Given the description of an element on the screen output the (x, y) to click on. 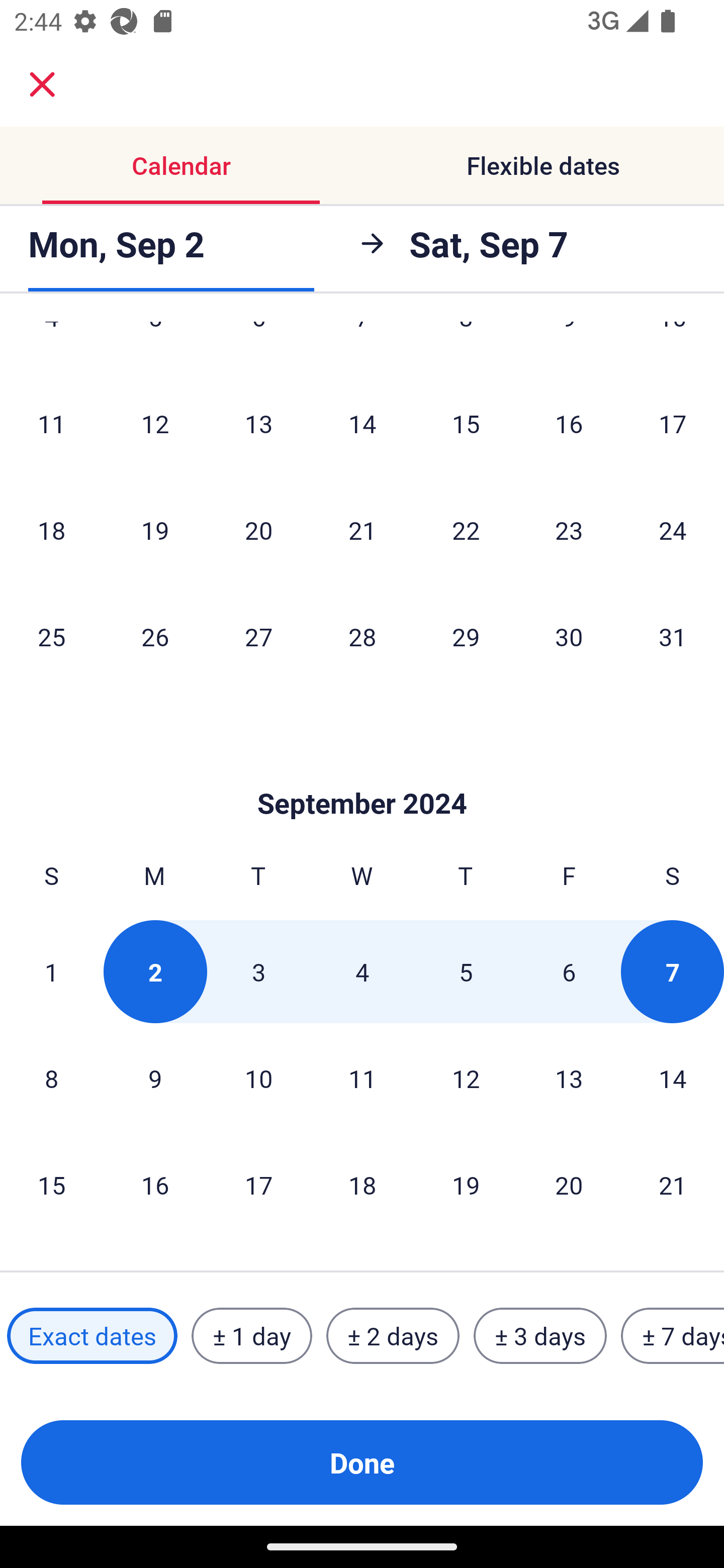
close. (42, 84)
Flexible dates (542, 164)
11 Sunday, August 11, 2024 (51, 423)
12 Monday, August 12, 2024 (155, 423)
13 Tuesday, August 13, 2024 (258, 423)
14 Wednesday, August 14, 2024 (362, 423)
15 Thursday, August 15, 2024 (465, 423)
16 Friday, August 16, 2024 (569, 423)
17 Saturday, August 17, 2024 (672, 423)
18 Sunday, August 18, 2024 (51, 529)
19 Monday, August 19, 2024 (155, 529)
20 Tuesday, August 20, 2024 (258, 529)
21 Wednesday, August 21, 2024 (362, 529)
22 Thursday, August 22, 2024 (465, 529)
23 Friday, August 23, 2024 (569, 529)
24 Saturday, August 24, 2024 (672, 529)
25 Sunday, August 25, 2024 (51, 636)
26 Monday, August 26, 2024 (155, 636)
27 Tuesday, August 27, 2024 (258, 636)
28 Wednesday, August 28, 2024 (362, 636)
29 Thursday, August 29, 2024 (465, 636)
30 Friday, August 30, 2024 (569, 636)
31 Saturday, August 31, 2024 (672, 636)
Skip to Done (362, 772)
1 Sunday, September 1, 2024 (51, 971)
8 Sunday, September 8, 2024 (51, 1078)
9 Monday, September 9, 2024 (155, 1078)
10 Tuesday, September 10, 2024 (258, 1078)
11 Wednesday, September 11, 2024 (362, 1078)
12 Thursday, September 12, 2024 (465, 1078)
13 Friday, September 13, 2024 (569, 1078)
14 Saturday, September 14, 2024 (672, 1078)
15 Sunday, September 15, 2024 (51, 1184)
16 Monday, September 16, 2024 (155, 1184)
17 Tuesday, September 17, 2024 (258, 1184)
18 Wednesday, September 18, 2024 (362, 1184)
19 Thursday, September 19, 2024 (465, 1184)
20 Friday, September 20, 2024 (569, 1184)
21 Saturday, September 21, 2024 (672, 1184)
Exact dates (92, 1335)
± 1 day (251, 1335)
± 2 days (392, 1335)
± 3 days (539, 1335)
± 7 days (672, 1335)
Done (361, 1462)
